Given the description of an element on the screen output the (x, y) to click on. 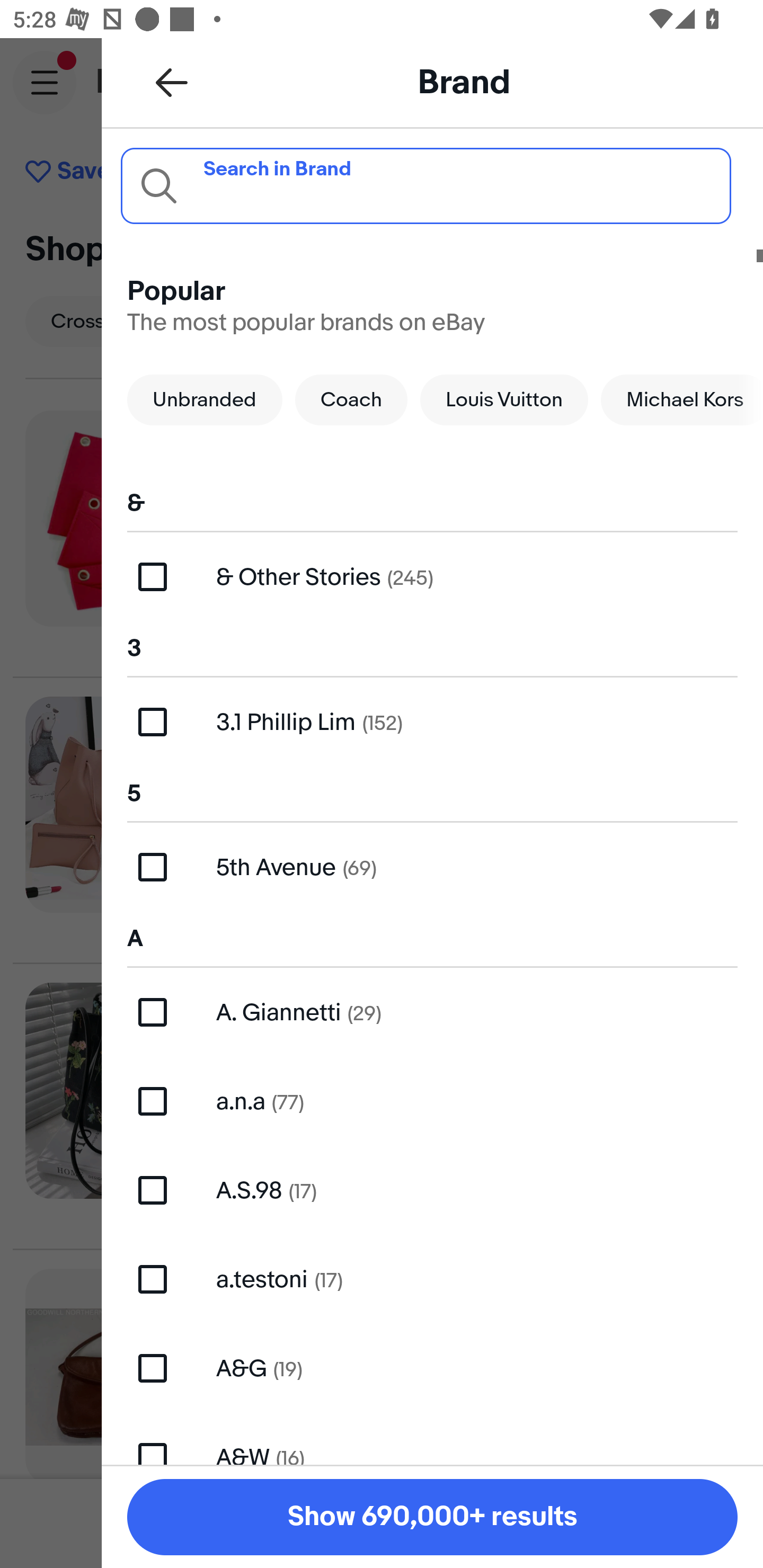
Back to all refinements (171, 81)
Search in Brand (425, 185)
Unbranded (204, 399)
Coach (351, 399)
Louis Vuitton (504, 399)
Michael Kors (682, 399)
& Other Stories (245) (432, 576)
3.1 Phillip Lim (152) (432, 721)
5th Avenue (69) (432, 867)
A. Giannetti (29) (432, 1011)
a.n.a (77) (432, 1101)
A.S.98 (17) (432, 1190)
a.testoni (17) (432, 1279)
A&G (19) (432, 1367)
A&W (16) (432, 1438)
Show 690,000+ results (432, 1516)
